Given the description of an element on the screen output the (x, y) to click on. 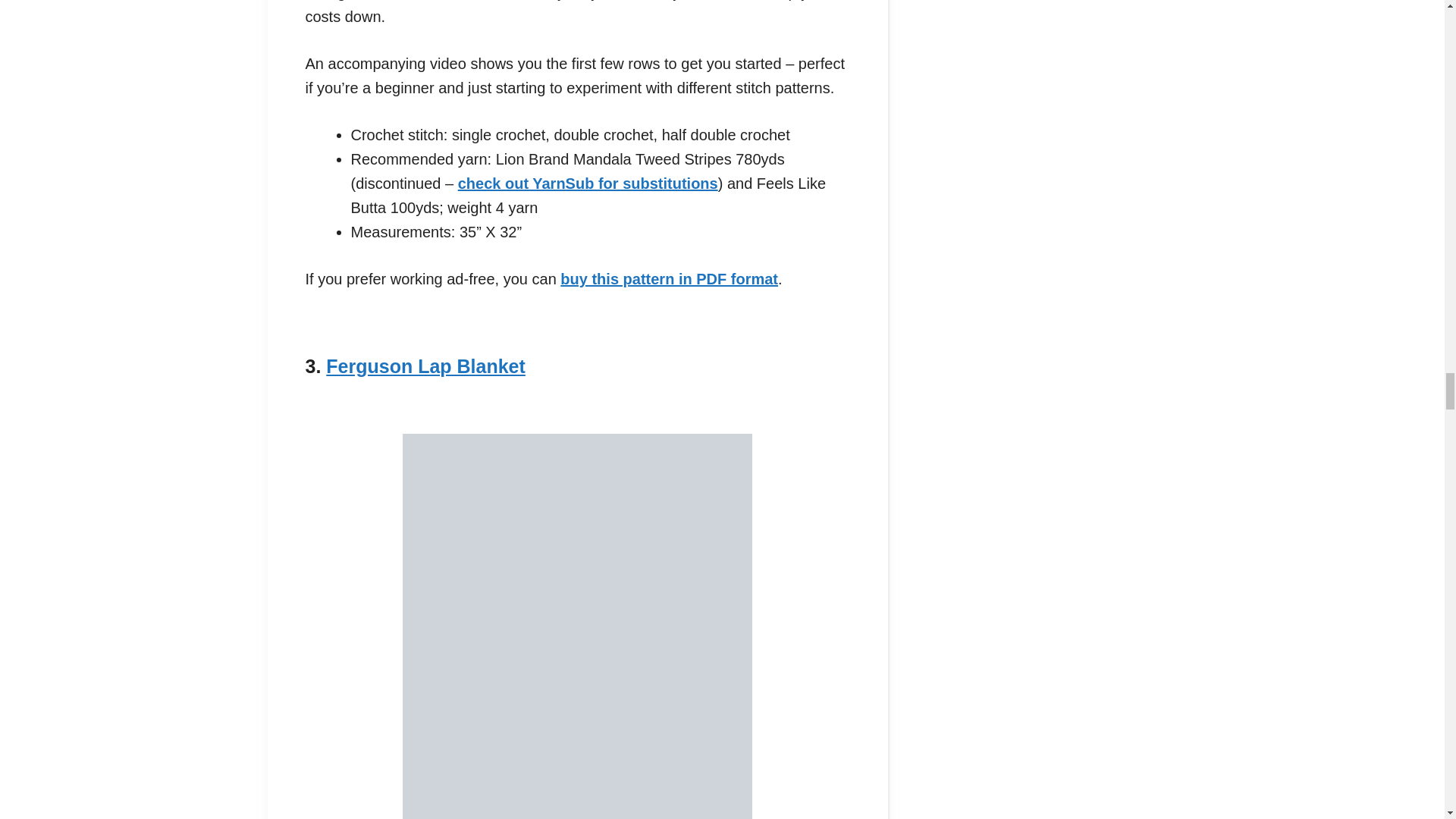
Ferguson Lap Blanket (425, 365)
check out YarnSub for substitutions (587, 183)
buy this pattern in PDF format (668, 279)
